Given the description of an element on the screen output the (x, y) to click on. 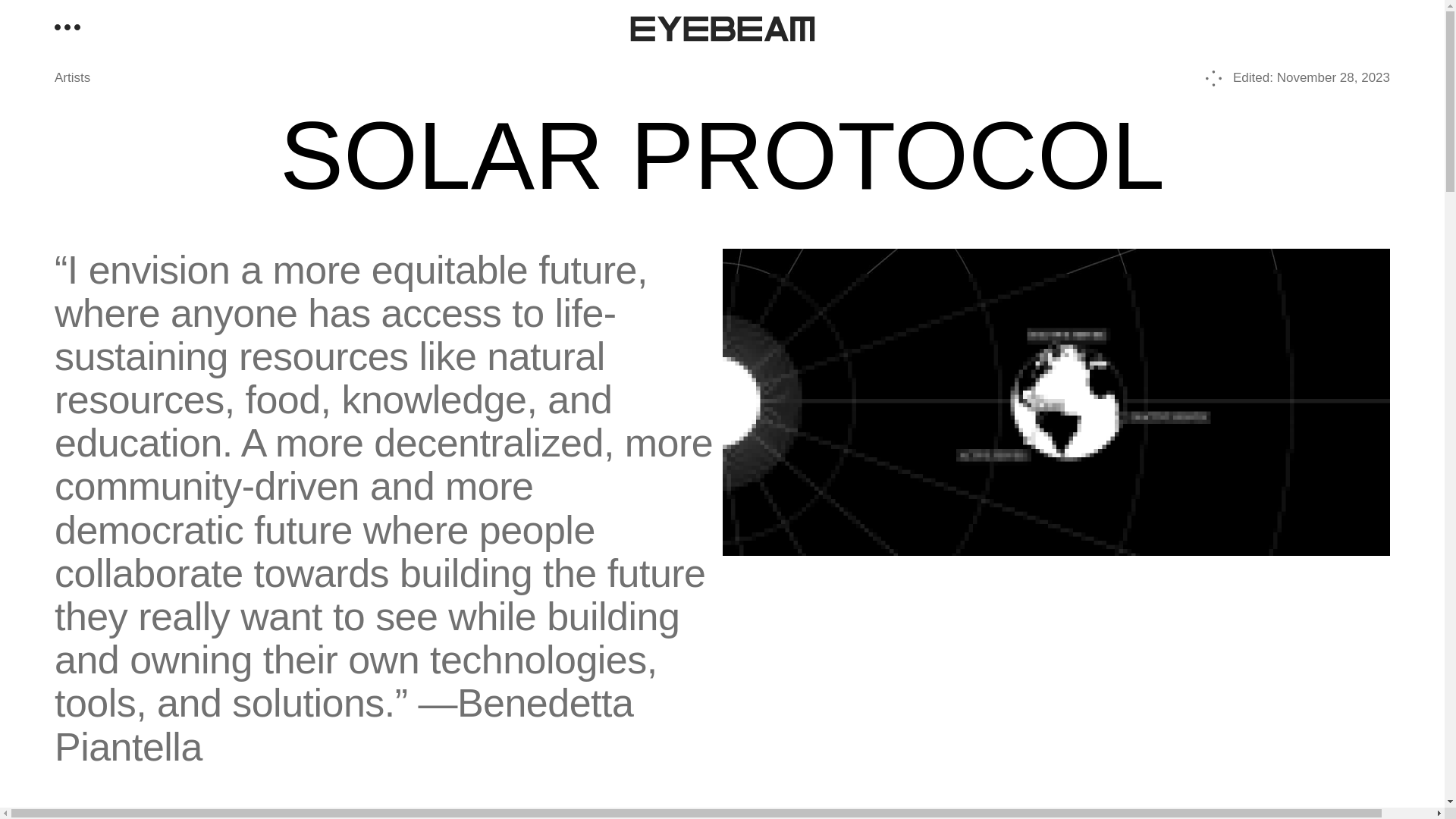
Artists (72, 77)
Toggle menu (67, 27)
Menu (67, 27)
Edited: November 28, 2023 (1297, 77)
EYEBEAM (721, 28)
